Given the description of an element on the screen output the (x, y) to click on. 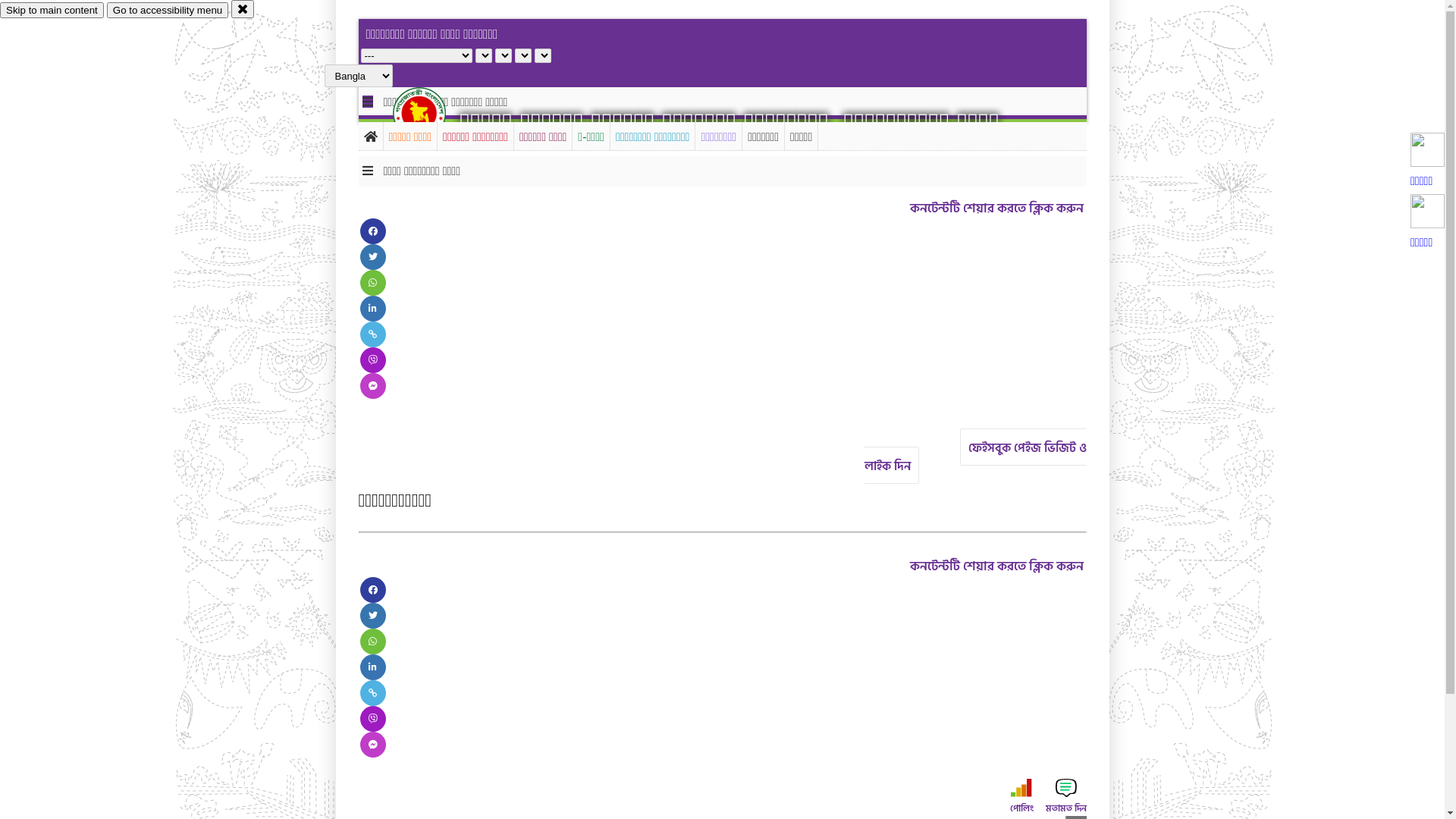
close Element type: hover (242, 9)

                
             Element type: hover (431, 112)
Go to accessibility menu Element type: text (167, 10)
Skip to main content Element type: text (51, 10)
